Given the description of an element on the screen output the (x, y) to click on. 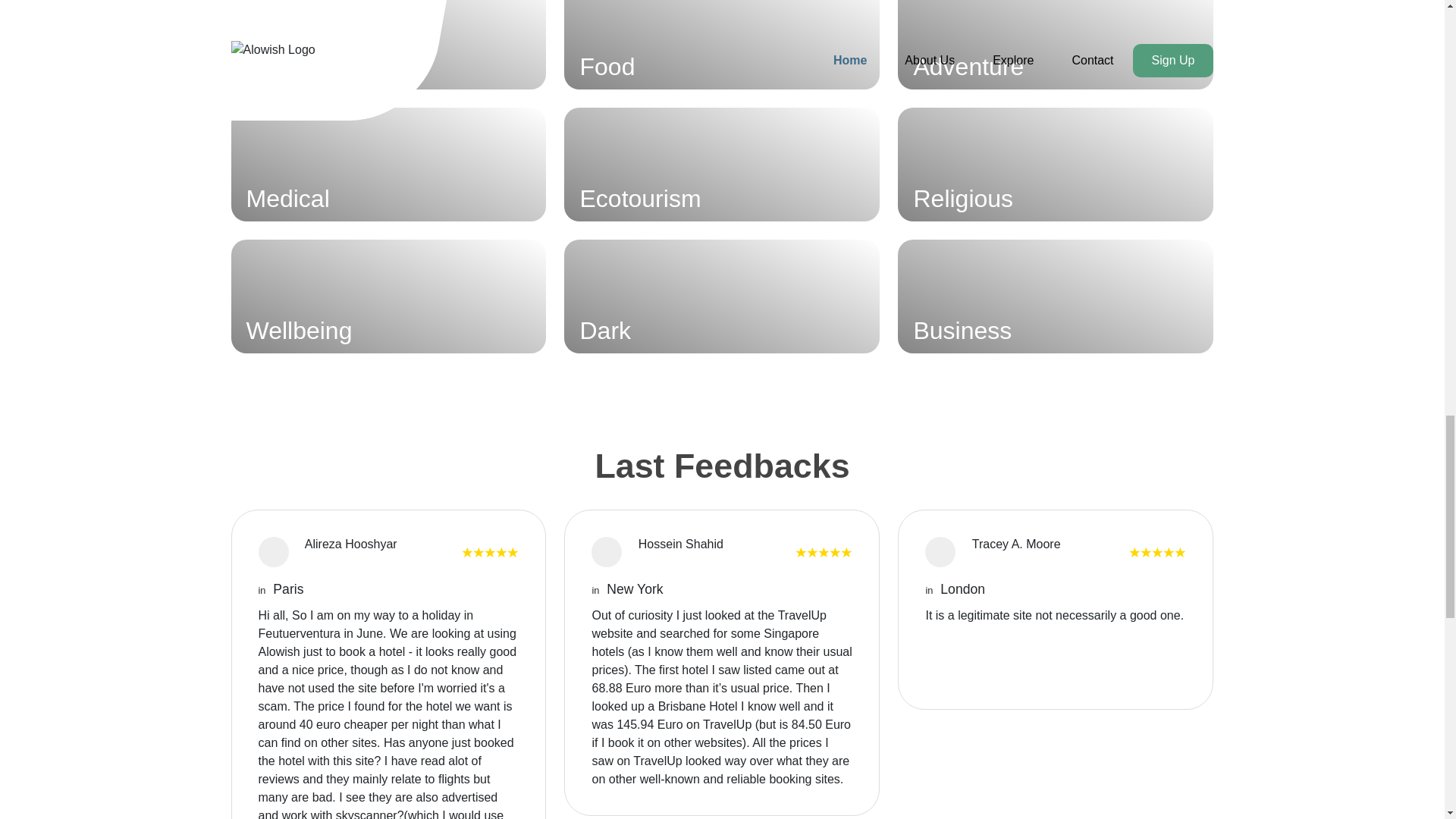
5 Stars (489, 551)
5 Stars (1157, 551)
5 Stars (822, 551)
